Given the description of an element on the screen output the (x, y) to click on. 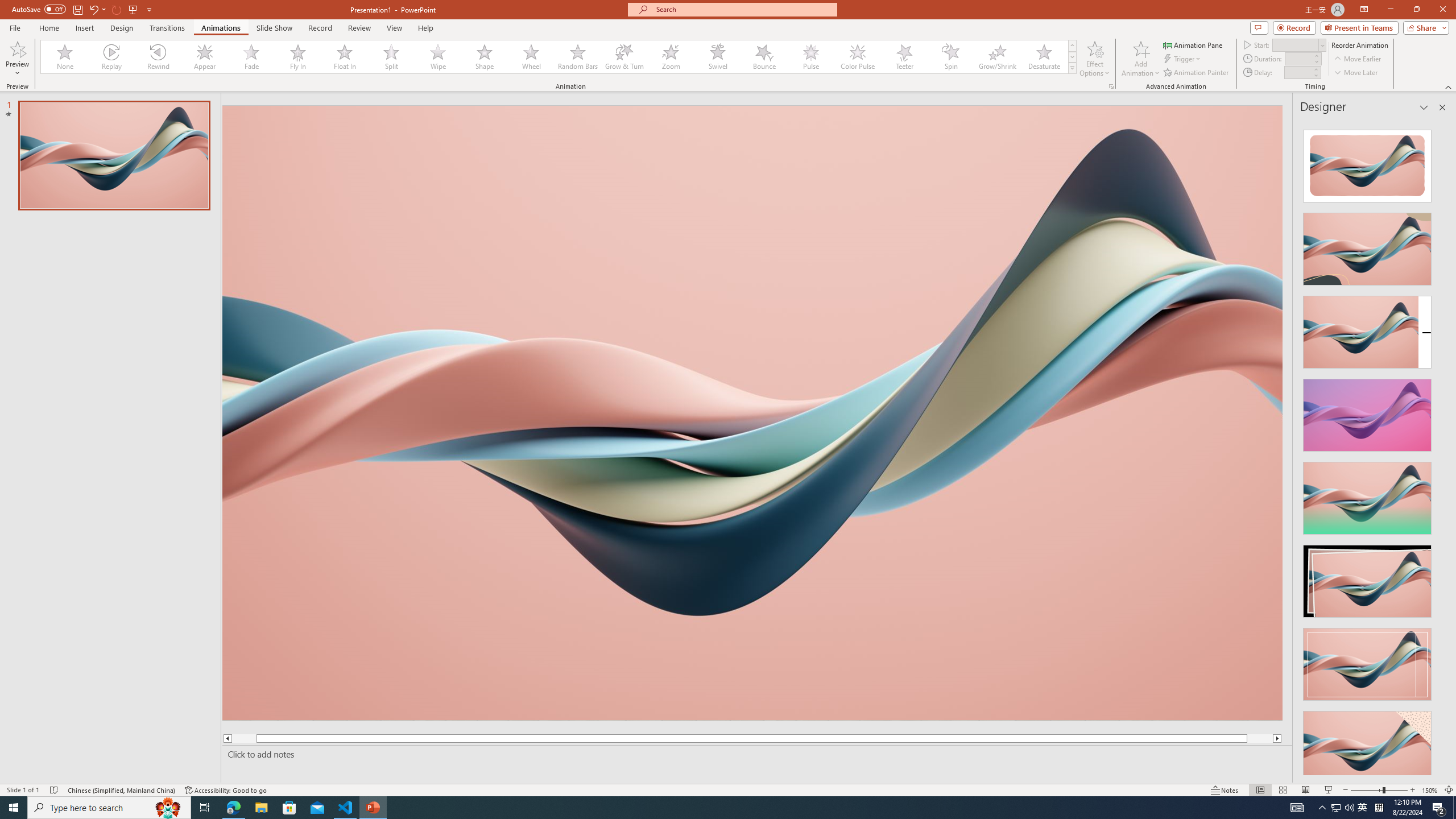
Color Pulse (857, 56)
Animation Styles (1071, 67)
AutomationID: AnimationGallery (558, 56)
